Given the description of an element on the screen output the (x, y) to click on. 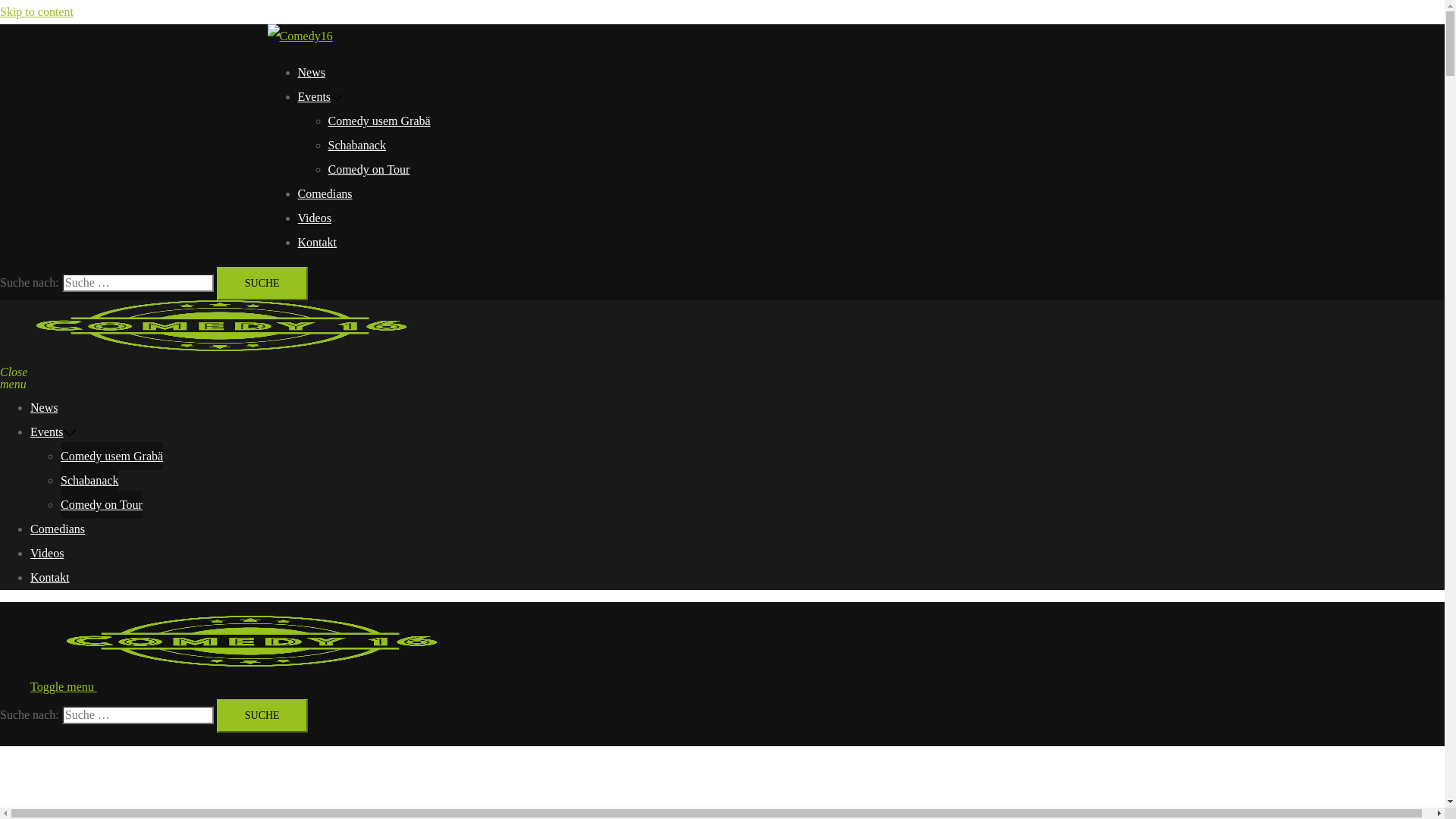
Schabanack Element type: text (356, 144)
Skip to content Element type: text (36, 11)
Close menu Element type: text (6, 370)
Comedy16 Element type: hover (299, 35)
Suche Element type: text (261, 283)
Schabanack Element type: text (89, 480)
Comedy on Tour Element type: text (101, 504)
News Element type: text (310, 71)
Videos Element type: text (313, 217)
Suche Element type: text (261, 715)
Comedians Element type: text (324, 193)
Events Element type: text (46, 431)
Comedy16 Element type: hover (254, 661)
Events Element type: text (313, 96)
Comedy16 Element type: hover (224, 346)
Comedians Element type: text (57, 528)
News Element type: text (43, 407)
Kontakt Element type: text (49, 577)
Comedy on Tour Element type: text (368, 169)
Videos Element type: text (46, 553)
Toggle menu Element type: text (69, 686)
Kontakt Element type: text (316, 241)
